Given the description of an element on the screen output the (x, y) to click on. 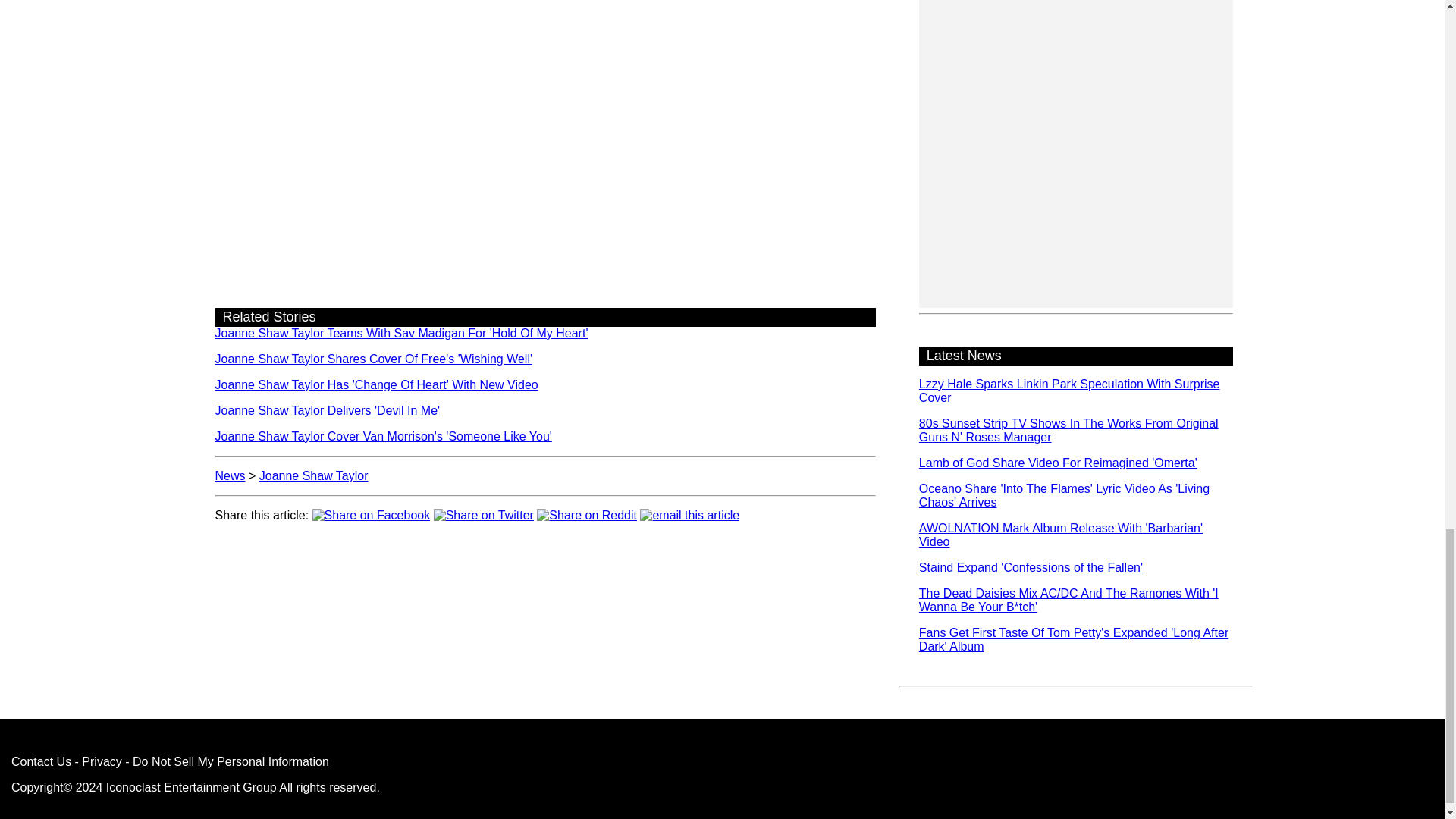
Iconoclast Entertainment Group (191, 787)
Privacy - Do Not Sell My Personal Information (205, 761)
Staind Expand 'Confessions of the Fallen' (1030, 567)
Share on Reddit (587, 514)
Share on Facebook (371, 514)
YouTube video player (545, 47)
News (230, 475)
Lamb of God Share Video For Reimagined 'Omerta' (1057, 462)
Joanne Shaw Taylor Shares Cover Of Free's 'Wishing Well' (373, 358)
